Given the description of an element on the screen output the (x, y) to click on. 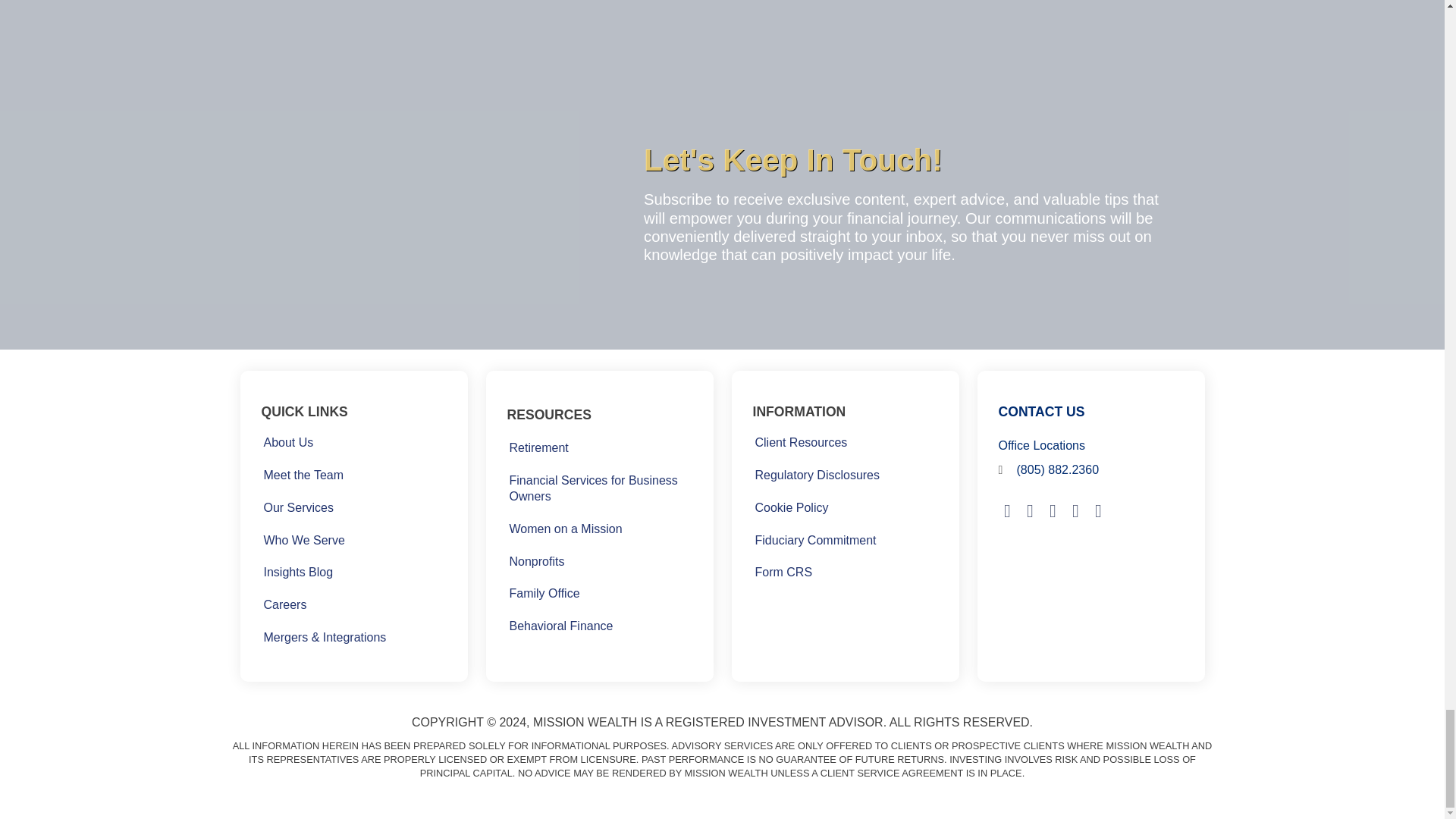
Cookie Policy (790, 507)
Careers (284, 605)
Insights Blog (297, 572)
Family Office (543, 593)
About Us (287, 443)
Nonprofits (536, 562)
Women on a Mission (565, 529)
Fiduciary Commitment (814, 540)
Who We Serve (303, 540)
CONTACT US (1040, 411)
